Given the description of an element on the screen output the (x, y) to click on. 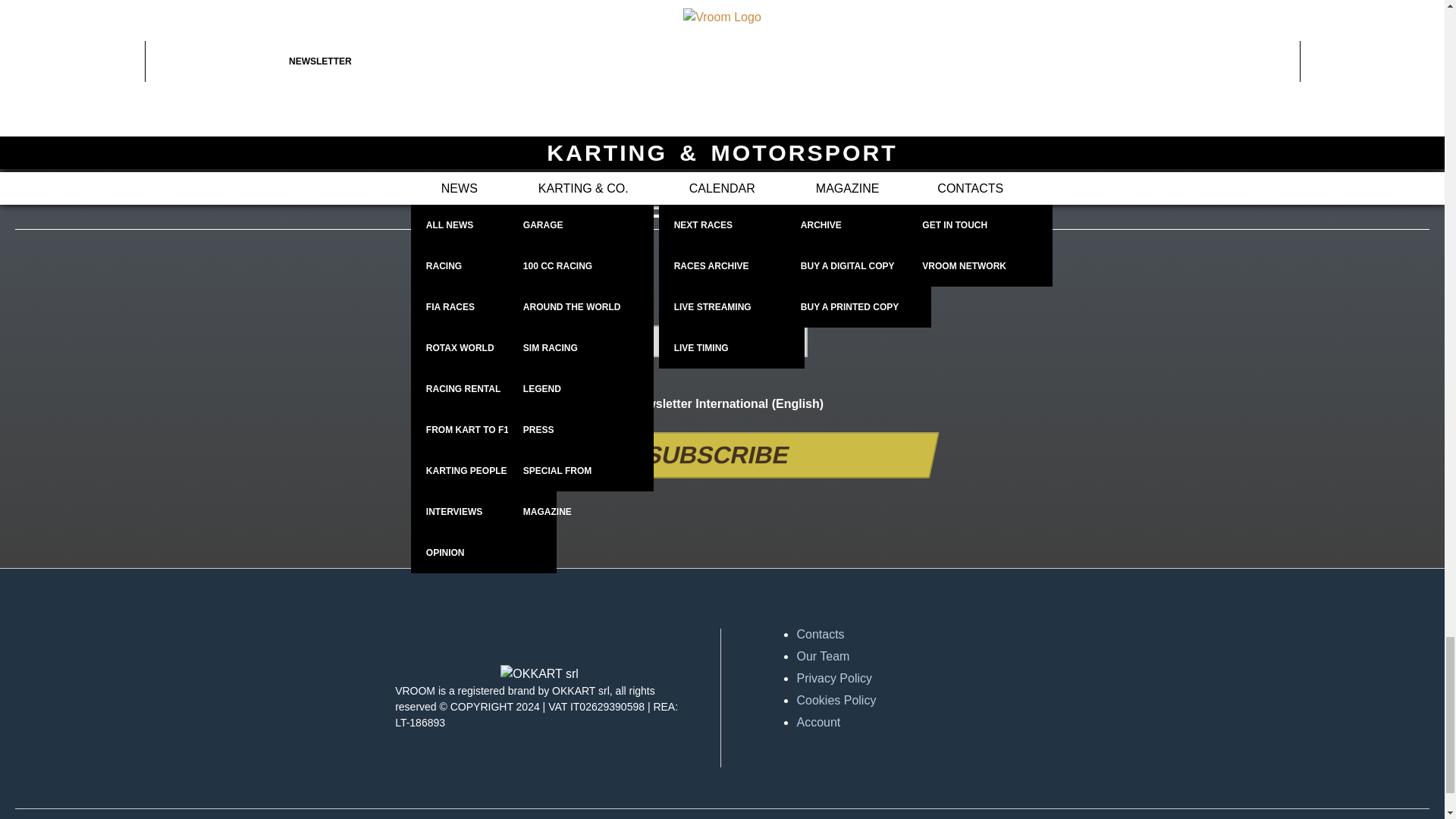
Our Team (940, 656)
Cookies Policy (940, 700)
Subscribe (713, 455)
Privacy Policy (940, 678)
Account (940, 722)
2 (622, 402)
Contacts (940, 634)
